Given the description of an element on the screen output the (x, y) to click on. 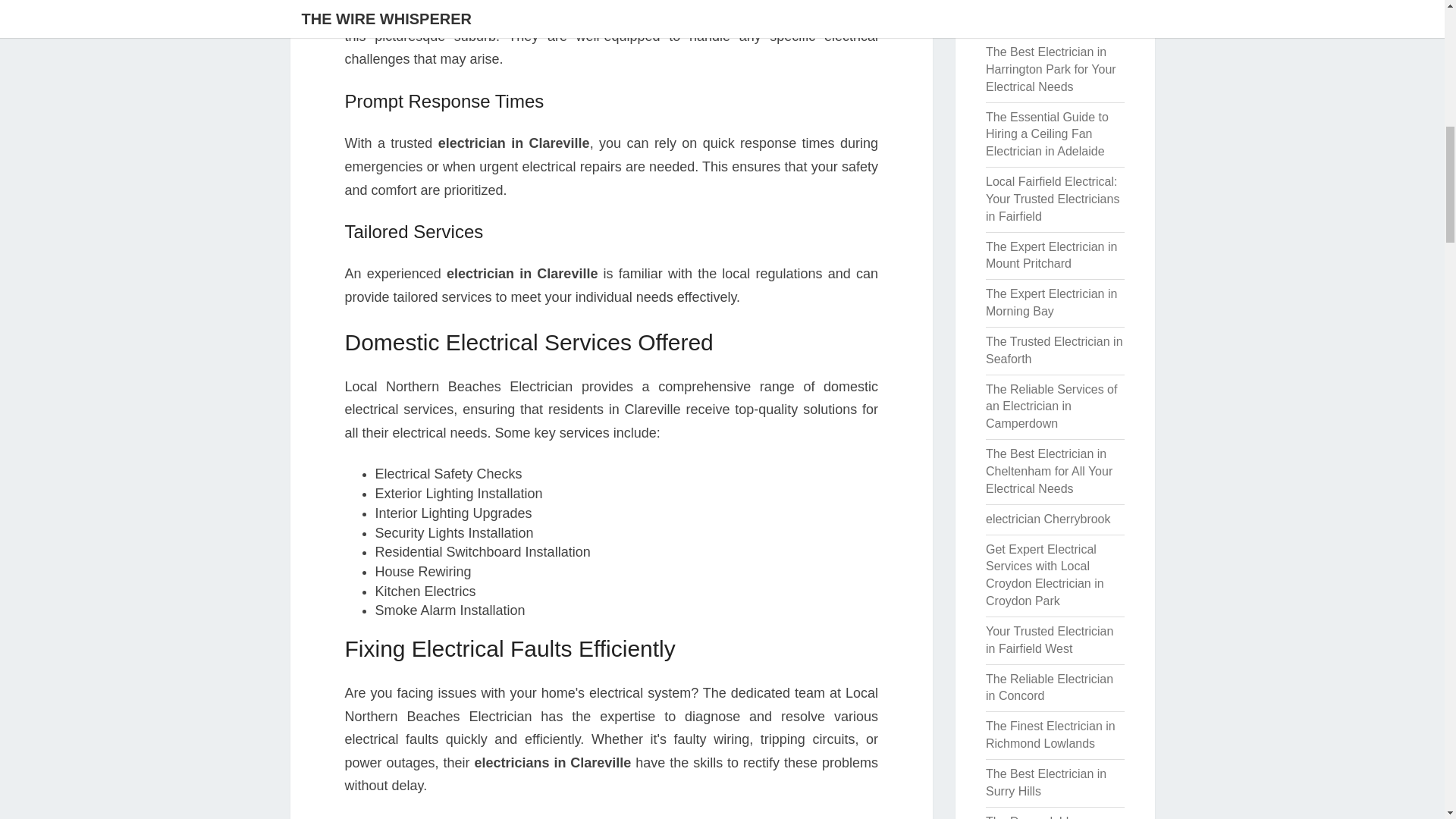
Your Trusted Electrician in Fairfield West (1049, 639)
Expert Electrician in Richmond Lowlands (1039, 13)
The Expert Electrician in Morning Bay (1050, 302)
The Dependable Electrician in Beaconsfield Upper (1038, 816)
The Reliable Electrician in Concord (1049, 687)
electrician Cherrybrook (1047, 518)
The Trusted Electrician in Seaforth (1053, 349)
The Best Electrician in Surry Hills (1045, 782)
The Finest Electrician in Richmond Lowlands (1050, 734)
The Expert Electrician in Mount Pritchard (1050, 255)
